Given the description of an element on the screen output the (x, y) to click on. 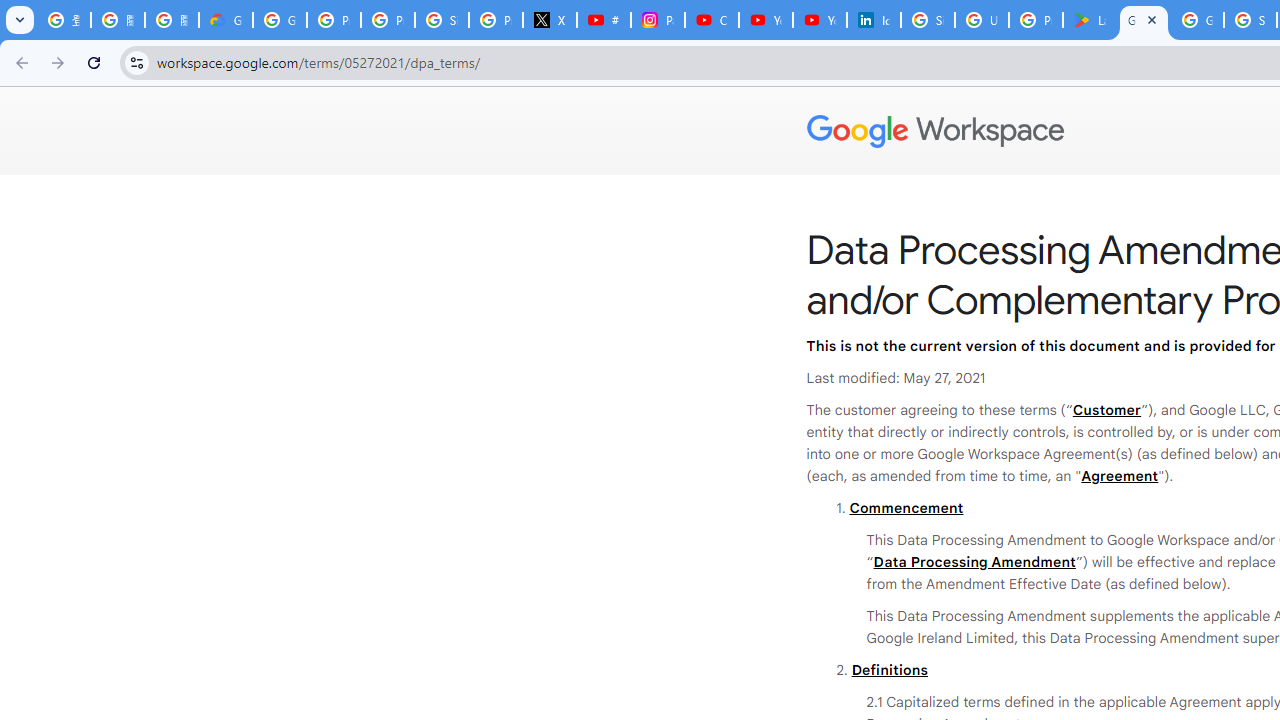
Reload (93, 62)
Google Workspace - Specific Terms (1197, 20)
System (10, 11)
Forward (57, 62)
Identity verification via Persona | LinkedIn Help (874, 20)
Close (1151, 19)
